Given the description of an element on the screen output the (x, y) to click on. 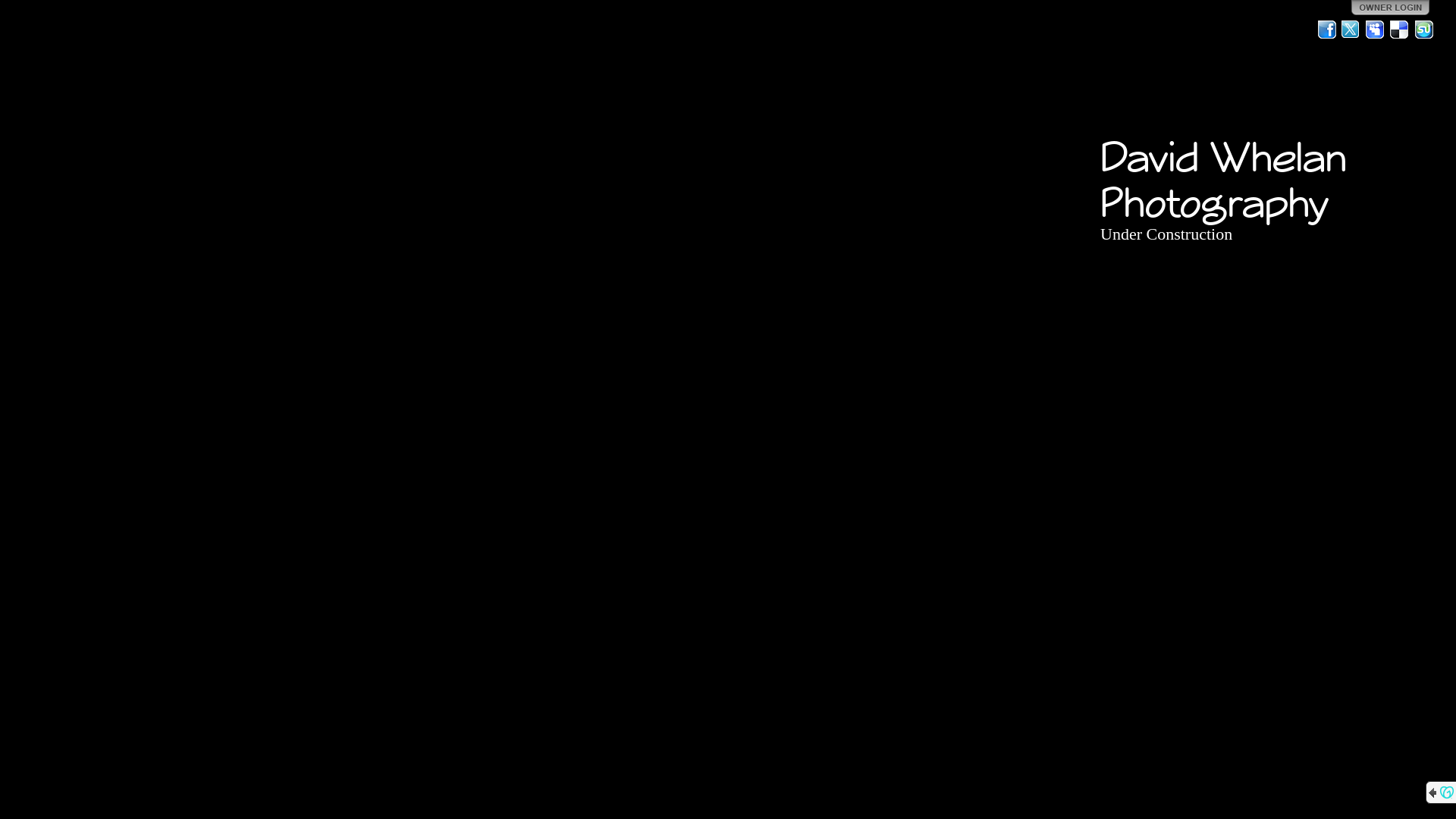
MySpace Element type: text (1375, 29)
Facebook Element type: text (1326, 29)
Del.icio.us Element type: text (1399, 29)
Twitter Element type: text (1350, 29)
StumbleUpon Element type: text (1423, 29)
